Given the description of an element on the screen output the (x, y) to click on. 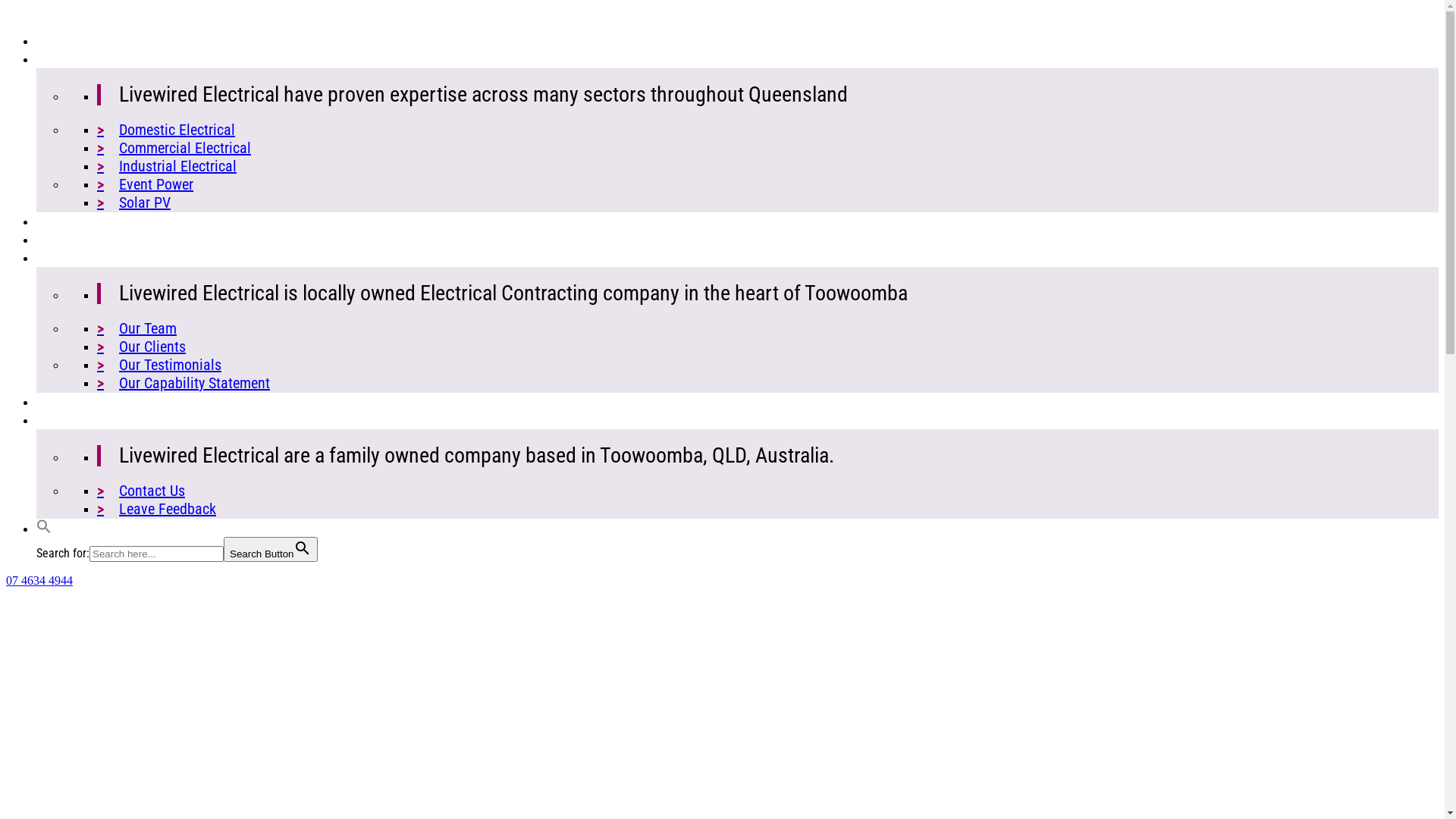
Our Clients Element type: text (141, 346)
Search Button Element type: text (270, 548)
Our Capability Statement Element type: text (183, 382)
Leave Feedback Element type: text (156, 508)
Our Testimonials Element type: text (159, 364)
HOME Element type: text (54, 40)
Event Power Element type: text (145, 184)
CONTACT Element type: text (66, 420)
ABOUT US Element type: text (67, 257)
SERVICES Element type: text (66, 59)
COMMUNITY Element type: text (75, 239)
Contact Us Element type: text (141, 490)
07 4634 4944 Element type: text (39, 580)
Industrial Electrical Element type: text (166, 165)
Domestic Electrical Element type: text (166, 129)
Solar PV Element type: text (133, 202)
Our Team Element type: text (136, 328)
PROJECTS Element type: text (69, 221)
Commercial Electrical Element type: text (174, 147)
NEWS Element type: text (54, 401)
